Given the description of an element on the screen output the (x, y) to click on. 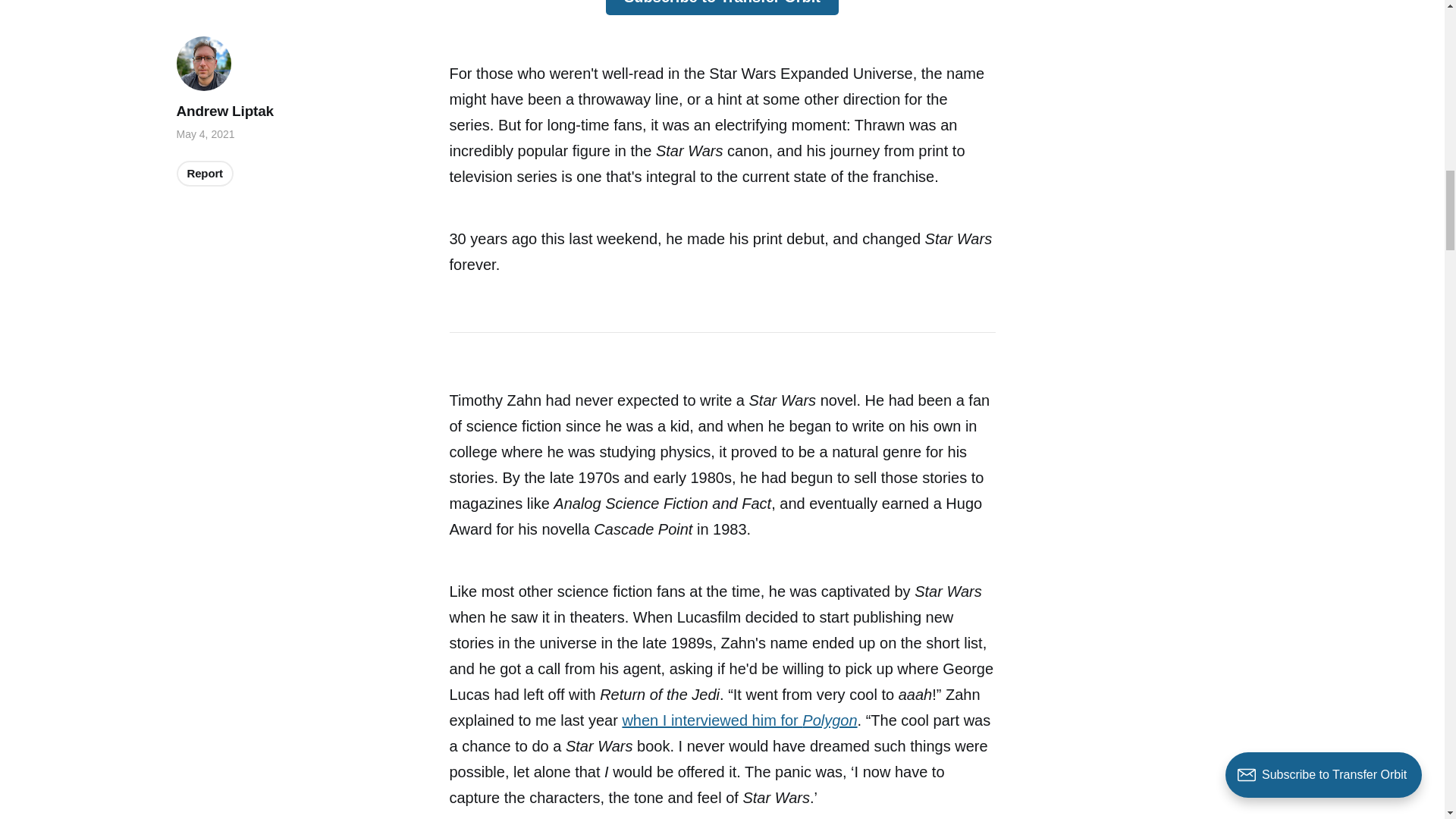
when I interviewed him for Polygon (739, 719)
Subscribe to Transfer Orbit (721, 7)
